Given the description of an element on the screen output the (x, y) to click on. 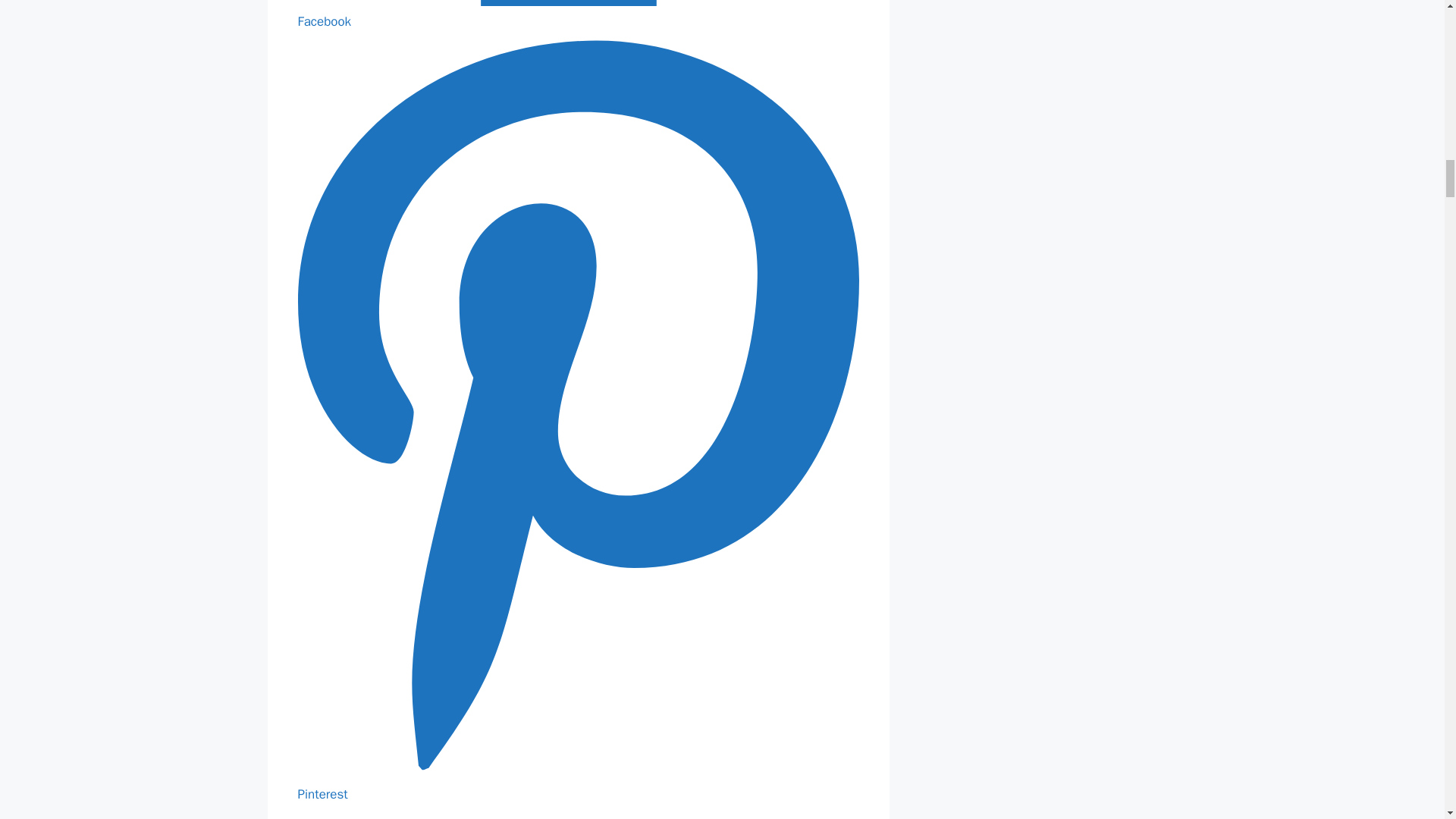
Facebook (578, 14)
